Given the description of an element on the screen output the (x, y) to click on. 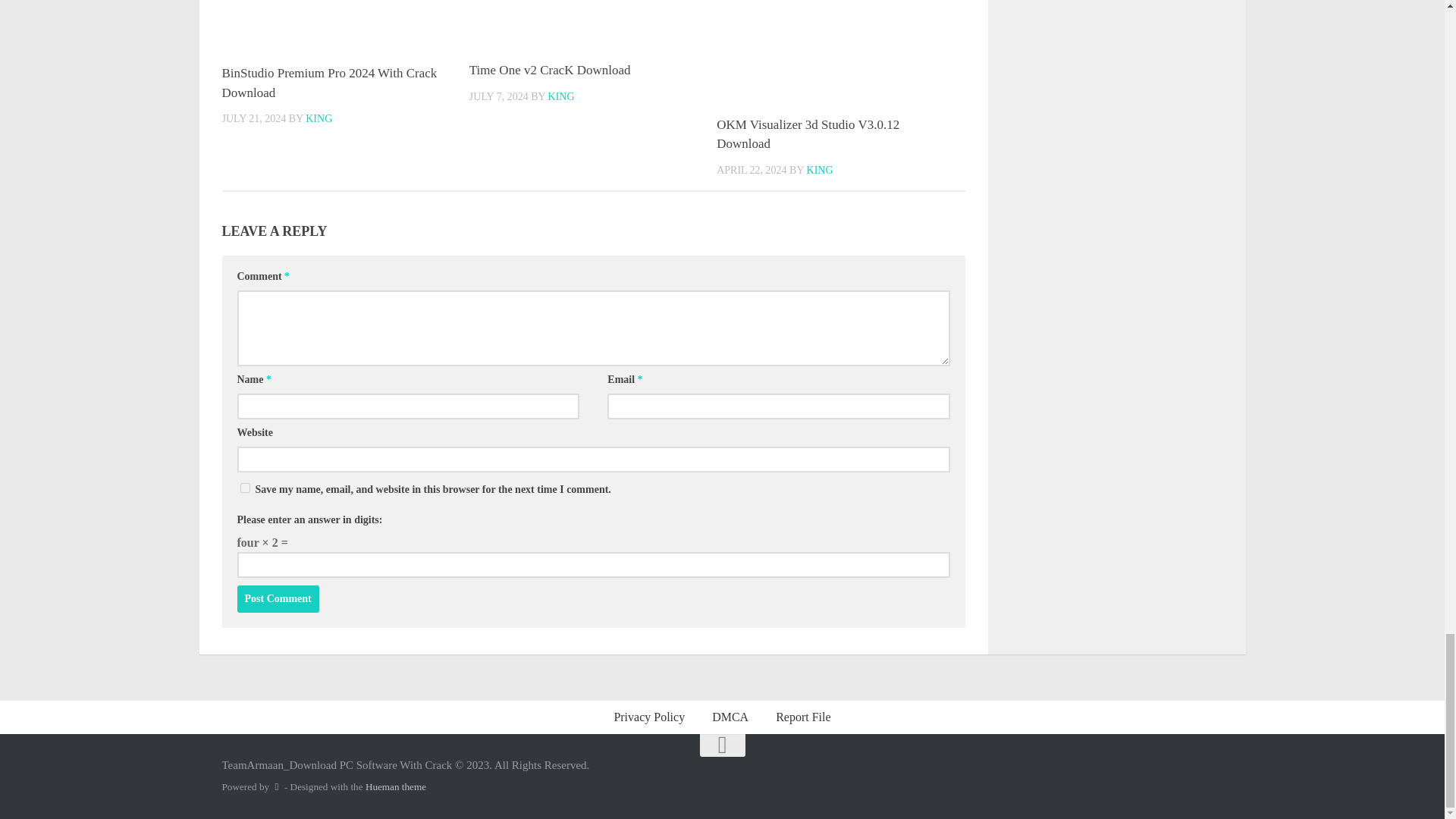
yes (244, 488)
Post Comment (276, 598)
Posts by King (318, 118)
